Given the description of an element on the screen output the (x, y) to click on. 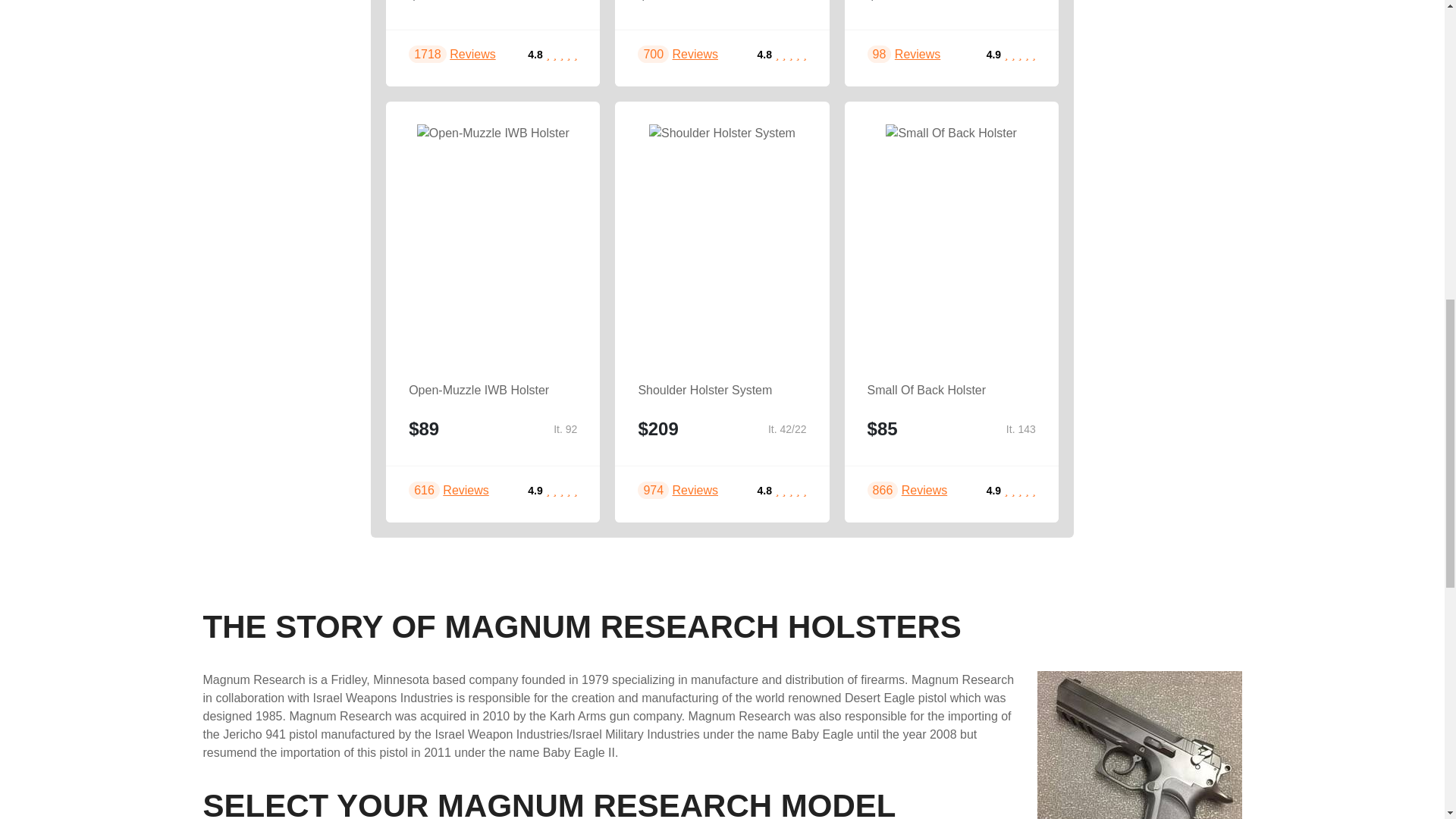
Reviews (464, 490)
Reviews (694, 490)
Reviews (917, 53)
Reviews (694, 53)
Reviews (472, 53)
